Given the description of an element on the screen output the (x, y) to click on. 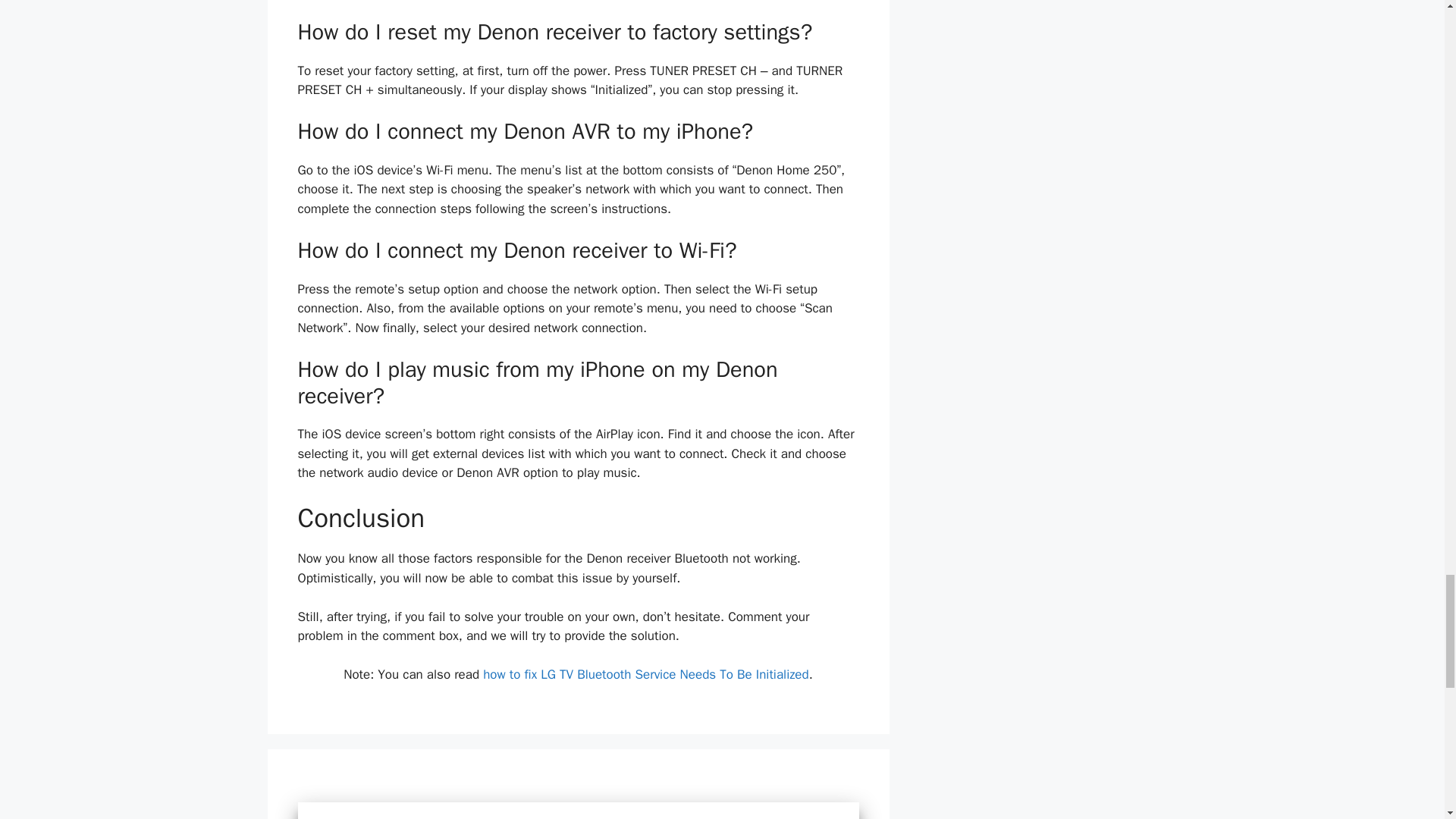
how to fix LG TV Bluetooth Service Needs To Be Initialized (645, 674)
